Given the description of an element on the screen output the (x, y) to click on. 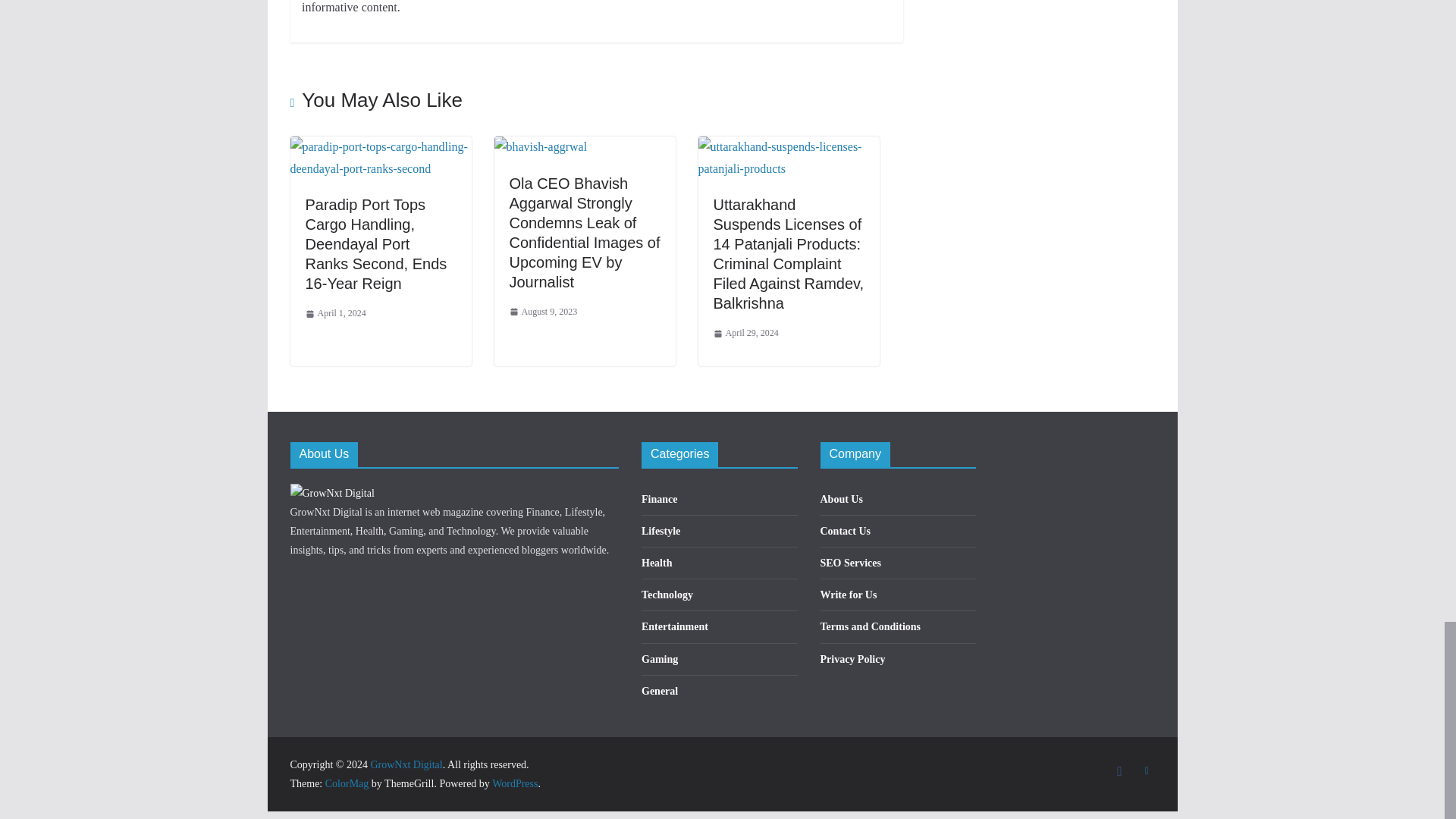
3:35 pm (543, 312)
10:56 pm (334, 313)
